Given the description of an element on the screen output the (x, y) to click on. 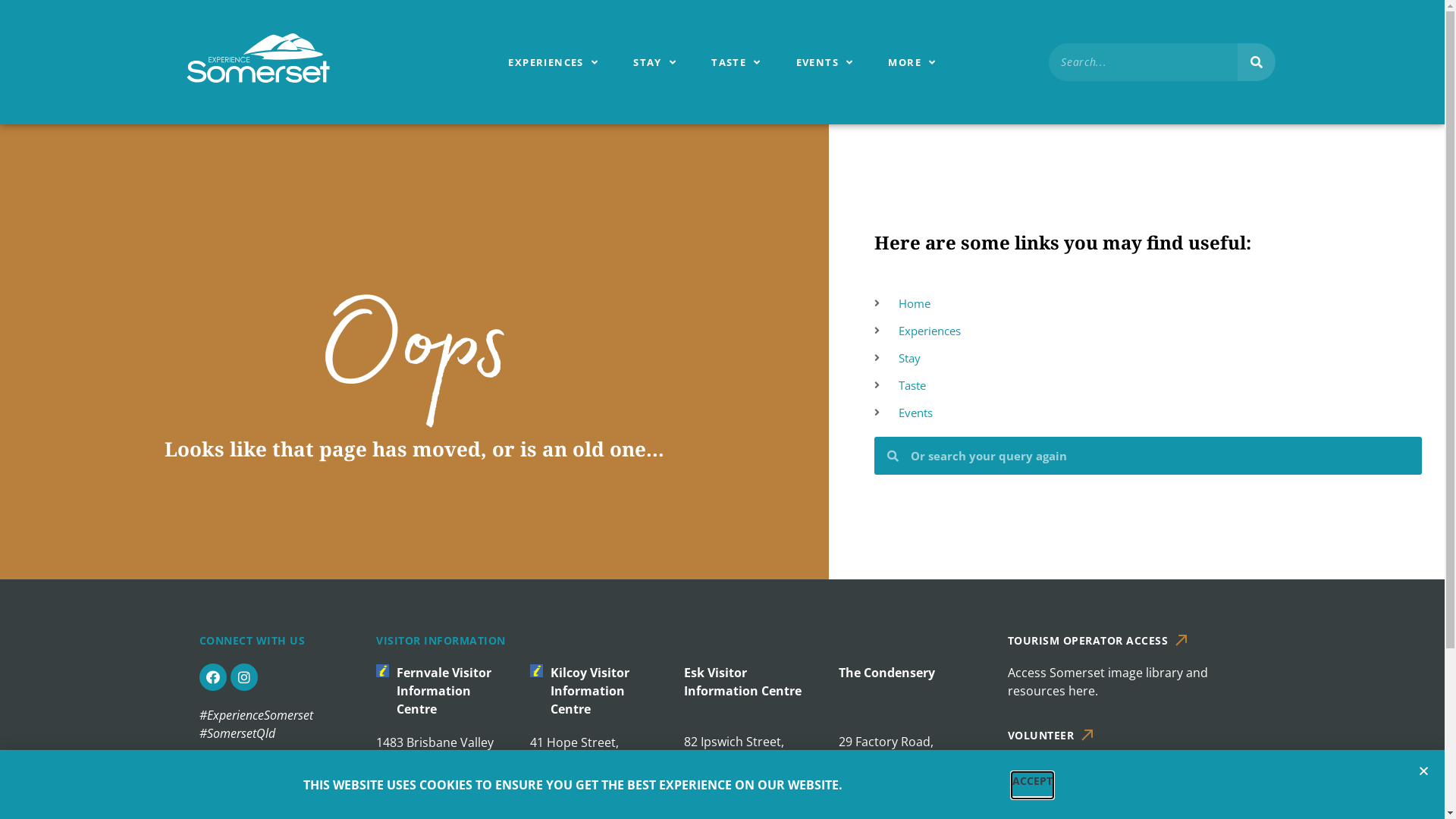
07 5427 0200 Element type: text (413, 778)
Taste Element type: text (1147, 385)
07 5424 2923 Element type: text (721, 777)
CONTACT US Element type: text (233, 777)
STAY Element type: text (654, 61)
MORE Element type: text (911, 61)
EXPERIENCES Element type: text (552, 61)
07 5423 1036 Element type: text (875, 777)
ACCEPT Element type: text (1032, 784)
07 5422 0440 Element type: text (567, 778)
EVENTS Element type: text (824, 61)
Events Element type: text (1147, 412)
Home Element type: text (1147, 303)
Experiences Element type: text (1147, 330)
Stay Element type: text (1147, 357)
TOURISM OPERATOR ACCESS Element type: text (1087, 640)
VOLUNTEER Element type: text (1040, 735)
TASTE Element type: text (735, 61)
